Given the description of an element on the screen output the (x, y) to click on. 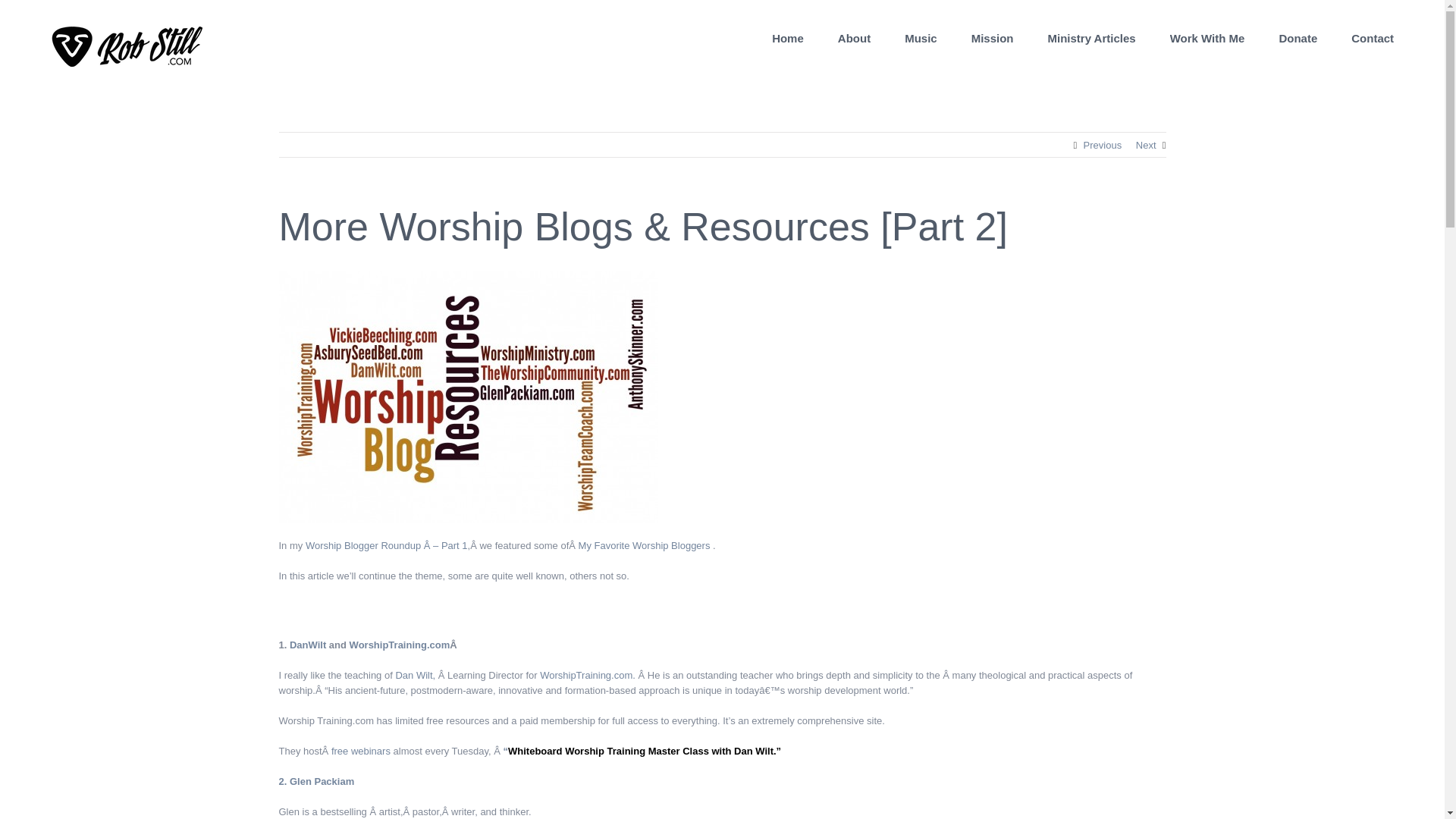
Worship Blogs 2 (468, 397)
free webinars (362, 750)
Previous (1102, 145)
WorshipTraining.com (399, 644)
Dan Wilt, (414, 674)
WorshipTraining.com. (587, 674)
2. Glen Packiam (317, 781)
Work With Me (1207, 38)
DanWilt (309, 644)
My Favorite Worship Bloggers (645, 545)
